Given the description of an element on the screen output the (x, y) to click on. 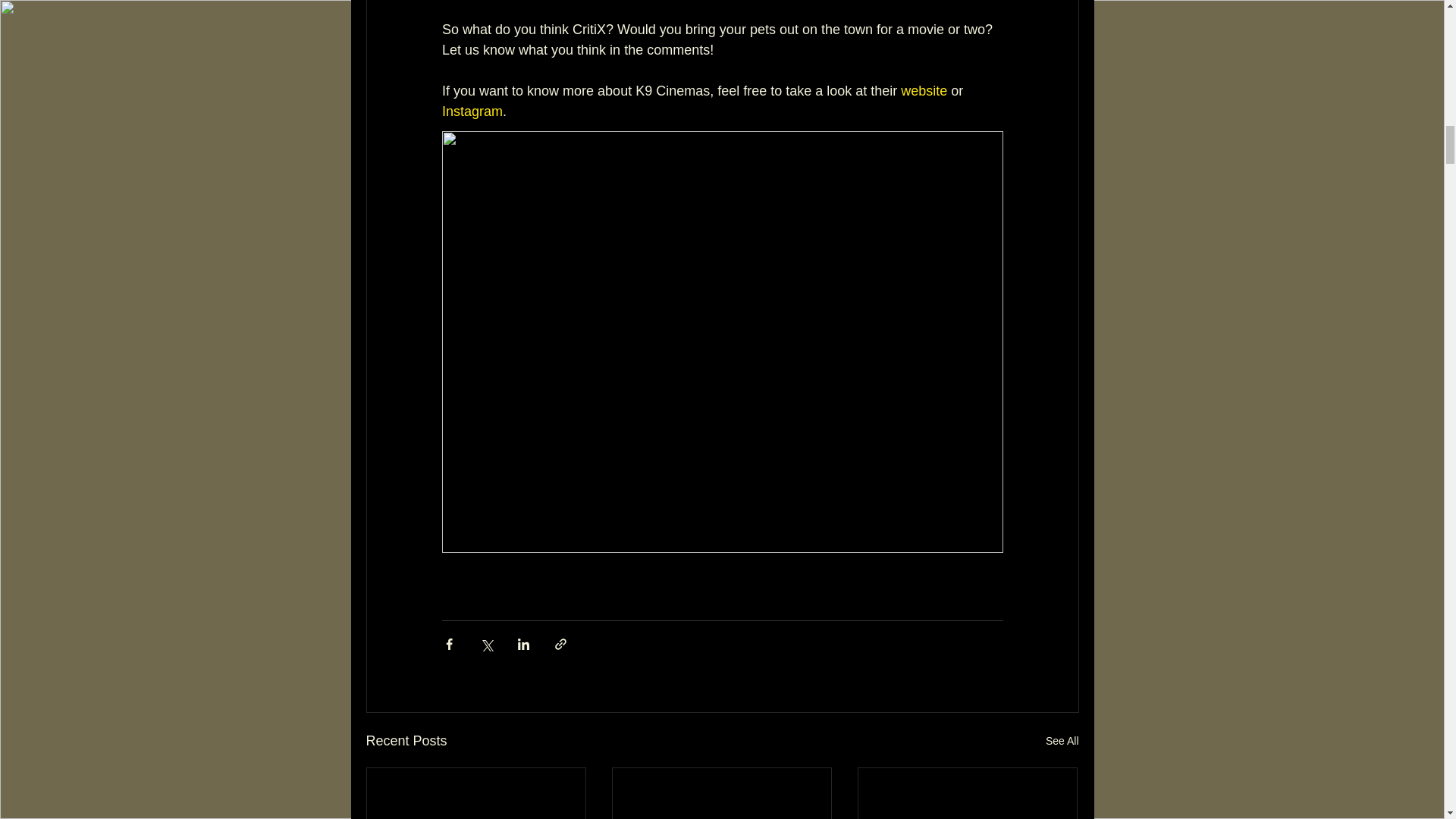
website (924, 90)
See All (1061, 741)
Instagram (471, 111)
